Given the description of an element on the screen output the (x, y) to click on. 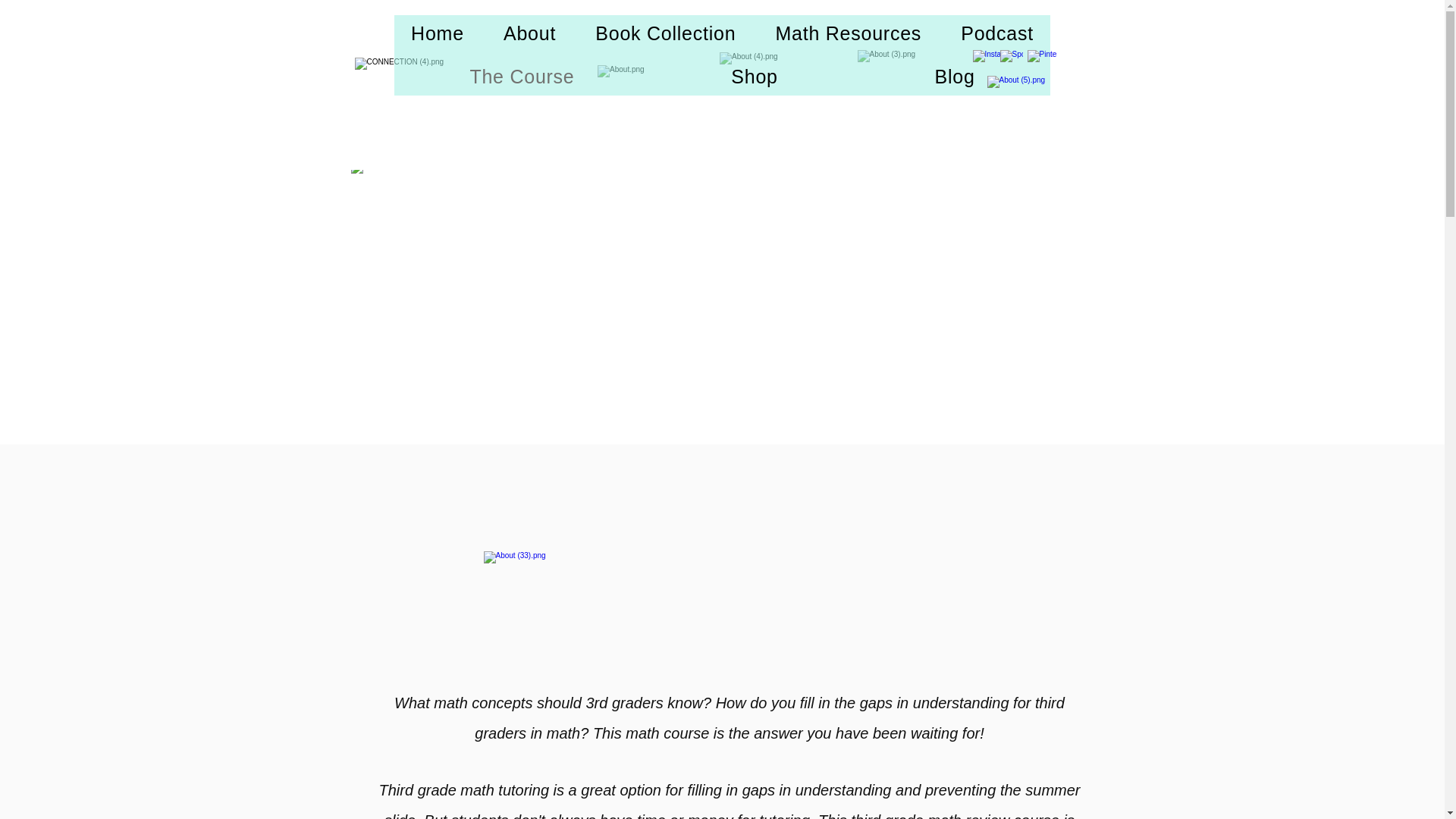
Home (437, 33)
About (529, 33)
Podcast (996, 33)
Shop (754, 76)
Math Resources (847, 33)
Blog (954, 76)
The Course (521, 76)
Book Collection (665, 33)
